Given the description of an element on the screen output the (x, y) to click on. 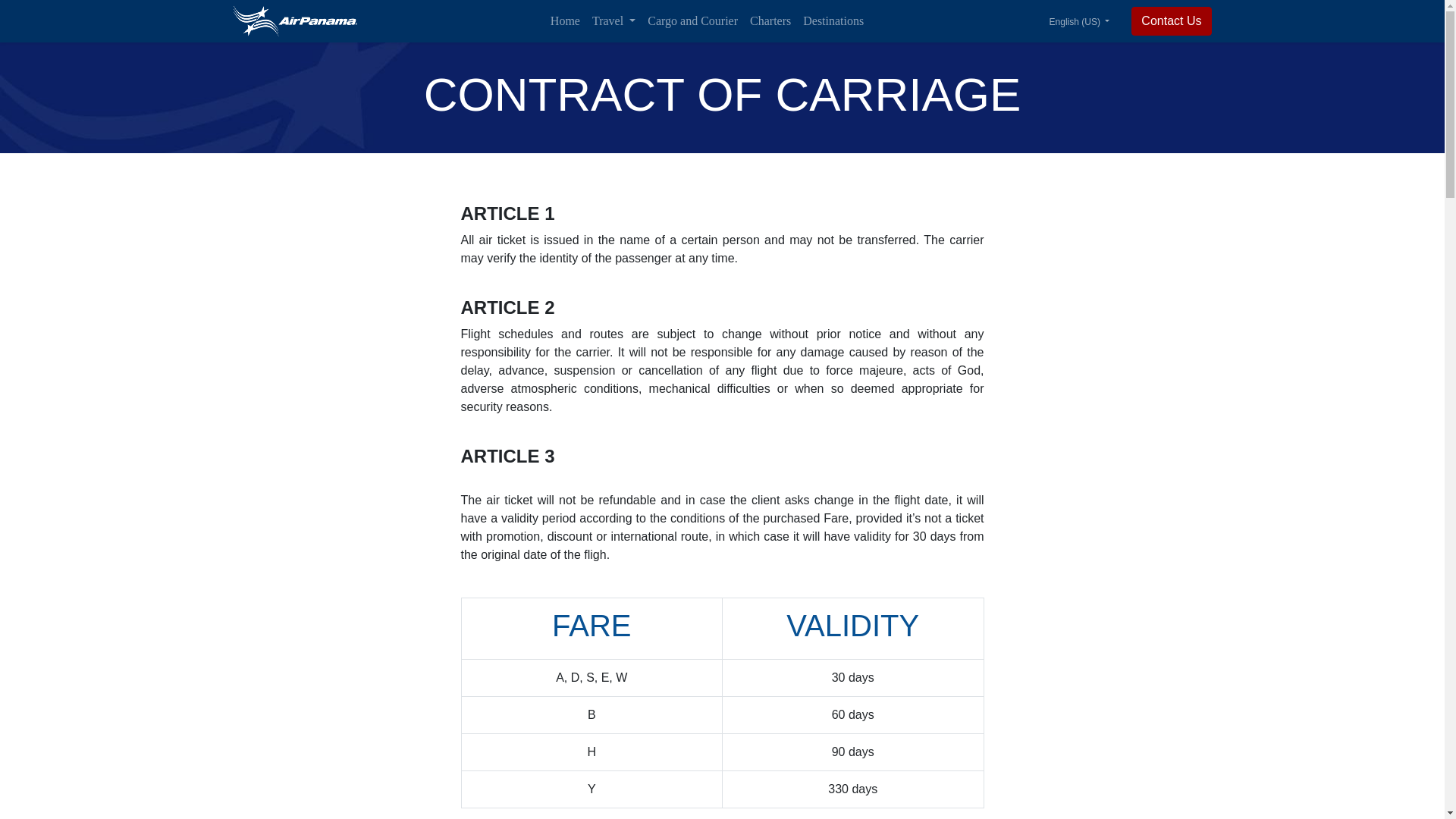
Cargo and Courier (693, 20)
Travel (614, 20)
airpanama (294, 20)
Charters (770, 20)
Destinations (832, 20)
Home (565, 20)
Contact Us (1171, 21)
